Given the description of an element on the screen output the (x, y) to click on. 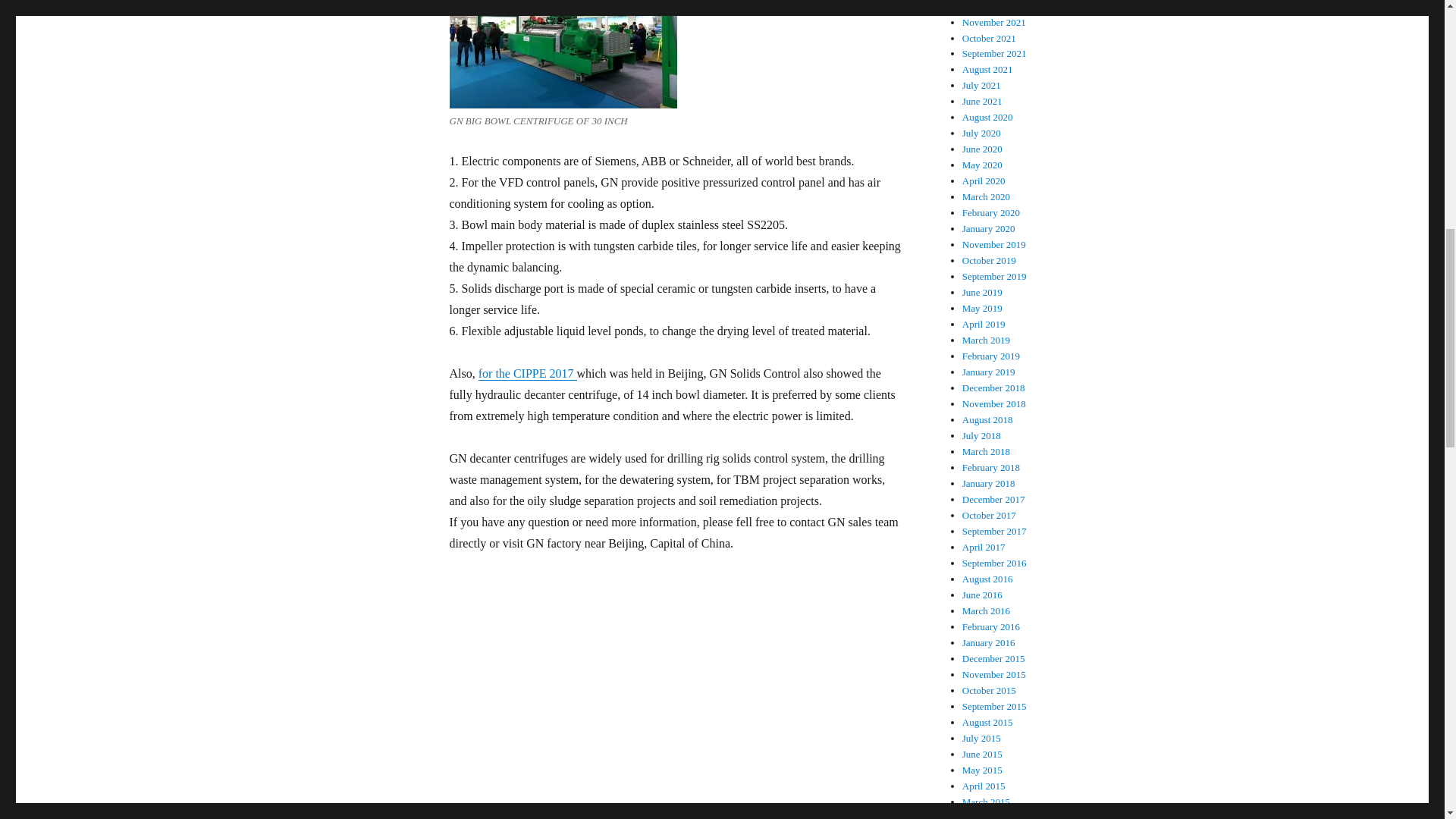
for the CIPPE 2017 (527, 373)
